Given the description of an element on the screen output the (x, y) to click on. 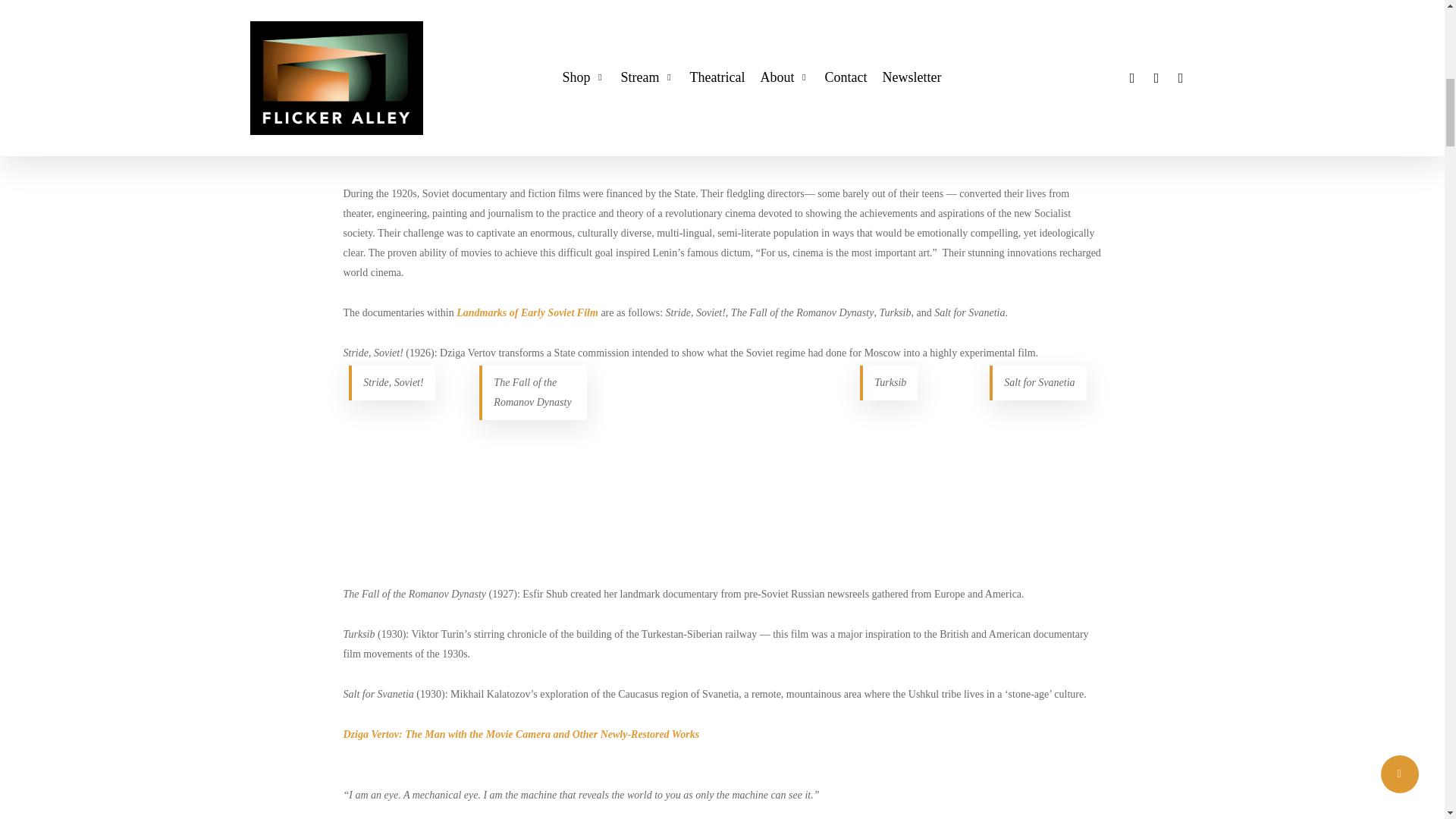
Landmarks of Early Soviet Film (413, 132)
Landmarks of Early Soviet Film (527, 312)
